Given the description of an element on the screen output the (x, y) to click on. 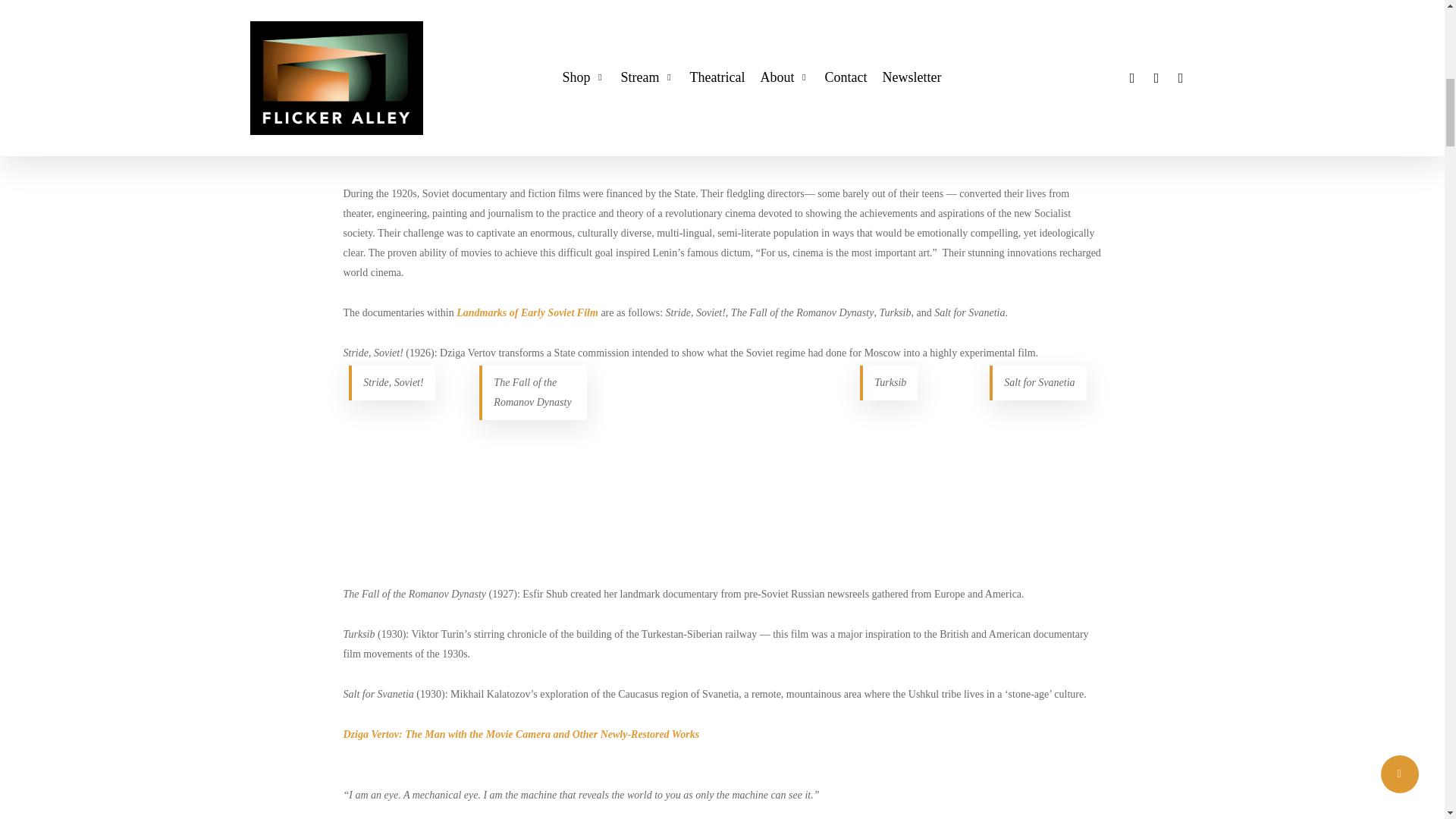
Landmarks of Early Soviet Film (413, 132)
Landmarks of Early Soviet Film (527, 312)
